Given the description of an element on the screen output the (x, y) to click on. 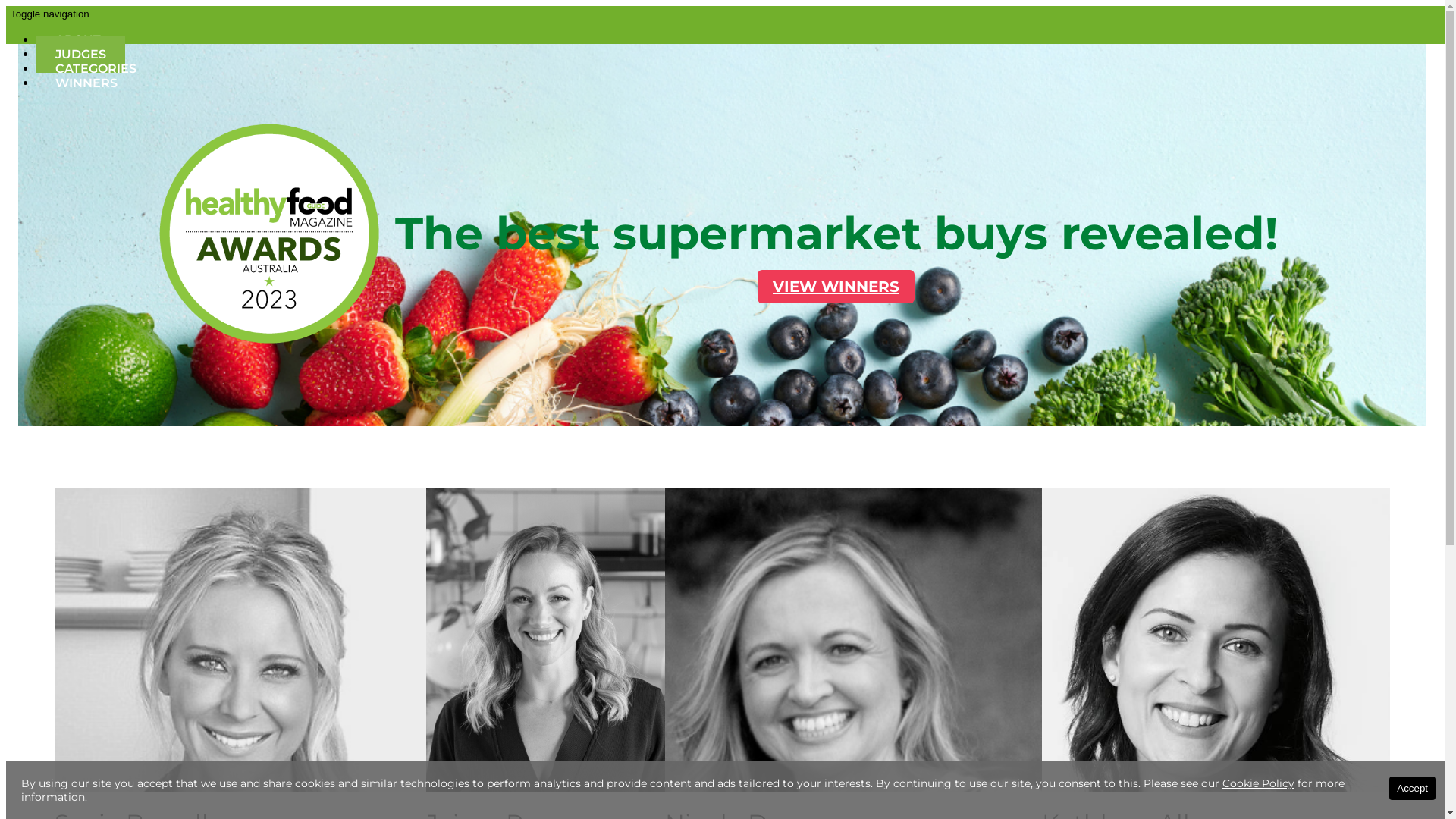
JUDGES Element type: text (80, 53)
CATEGORIES Element type: text (95, 68)
WINNERS Element type: text (86, 82)
VIEW WINNERS Element type: text (835, 286)
Cookie Policy Element type: text (1258, 783)
ABOUT Element type: text (77, 39)
Accept Element type: text (1412, 788)
Toggle navigation Element type: text (50, 13)
